Given the description of an element on the screen output the (x, y) to click on. 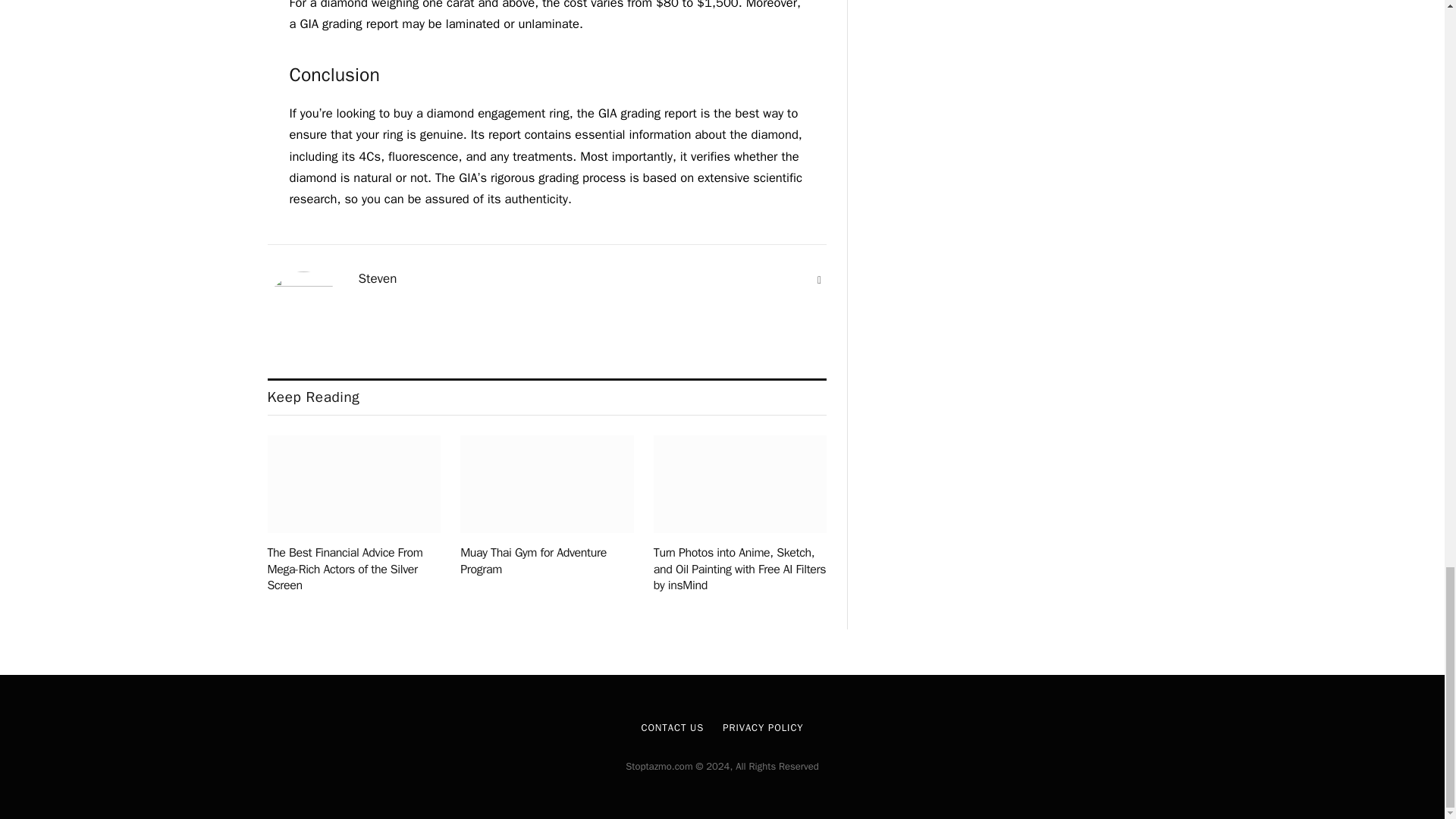
Website (818, 280)
Posts by Steven (377, 278)
Steven (377, 278)
Muay Thai Gym for Adventure Program (546, 561)
Website (818, 280)
